Given the description of an element on the screen output the (x, y) to click on. 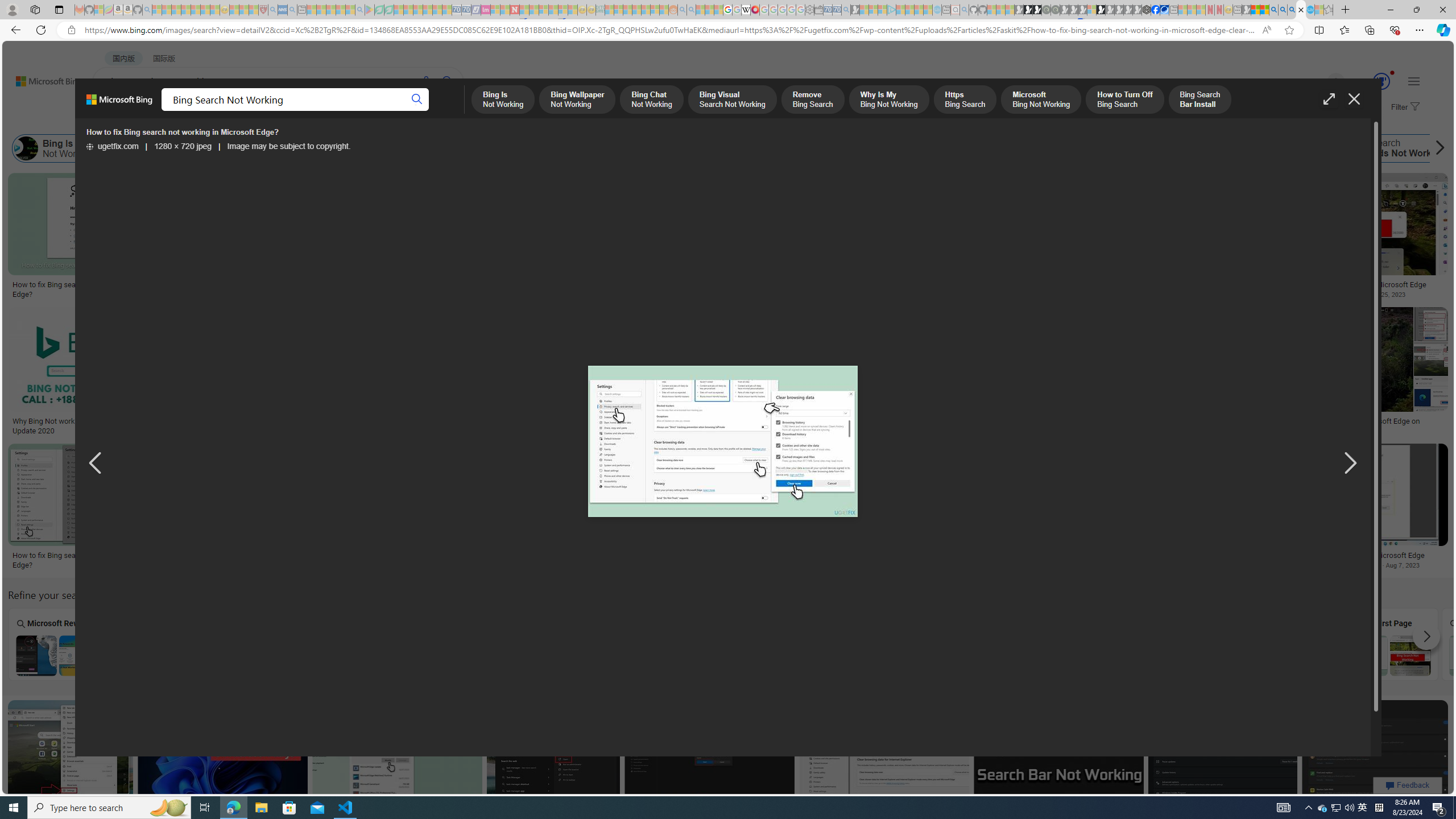
Https Bing Search (705, 148)
Bing Search Not Working Properly (569, 655)
Trusted Community Engagement and Contributions | Guidelines (524, 9)
2009 Bing officially replaced Live Search on June 3 - Search (1283, 9)
Bing Search Box Not Working Box (262, 643)
Bing Work Search Not Working Work (1286, 643)
MORE (451, 111)
